Given the description of an element on the screen output the (x, y) to click on. 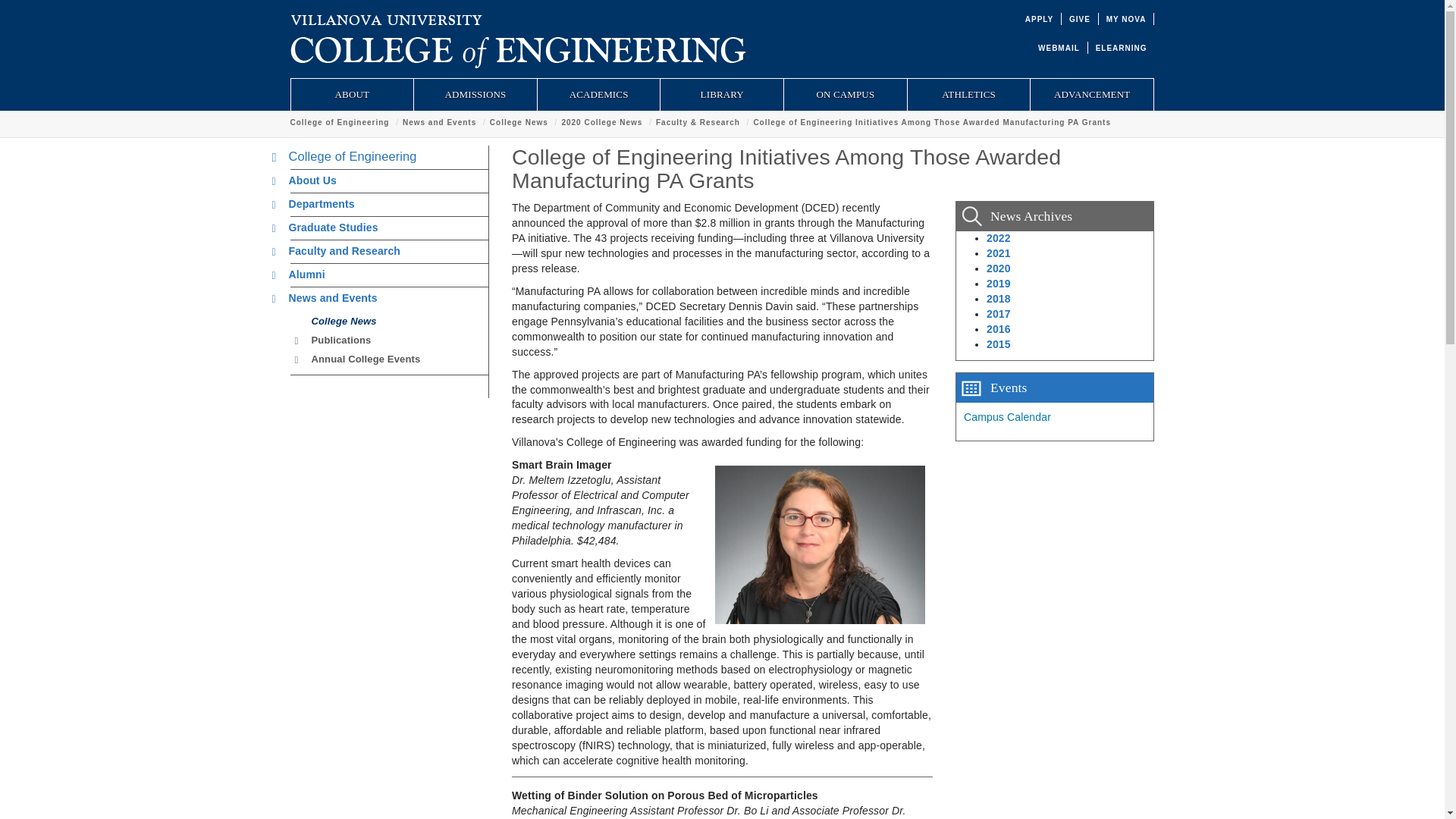
ABOUT (352, 94)
GIVE (1079, 19)
Annual College Events (361, 358)
ELEARNING (1121, 48)
ON CAMPUS (845, 94)
Faculty and Research (340, 250)
College of Engineering (338, 121)
Publications (336, 339)
ATHLETICS (968, 94)
ACADEMICS (599, 94)
